Given the description of an element on the screen output the (x, y) to click on. 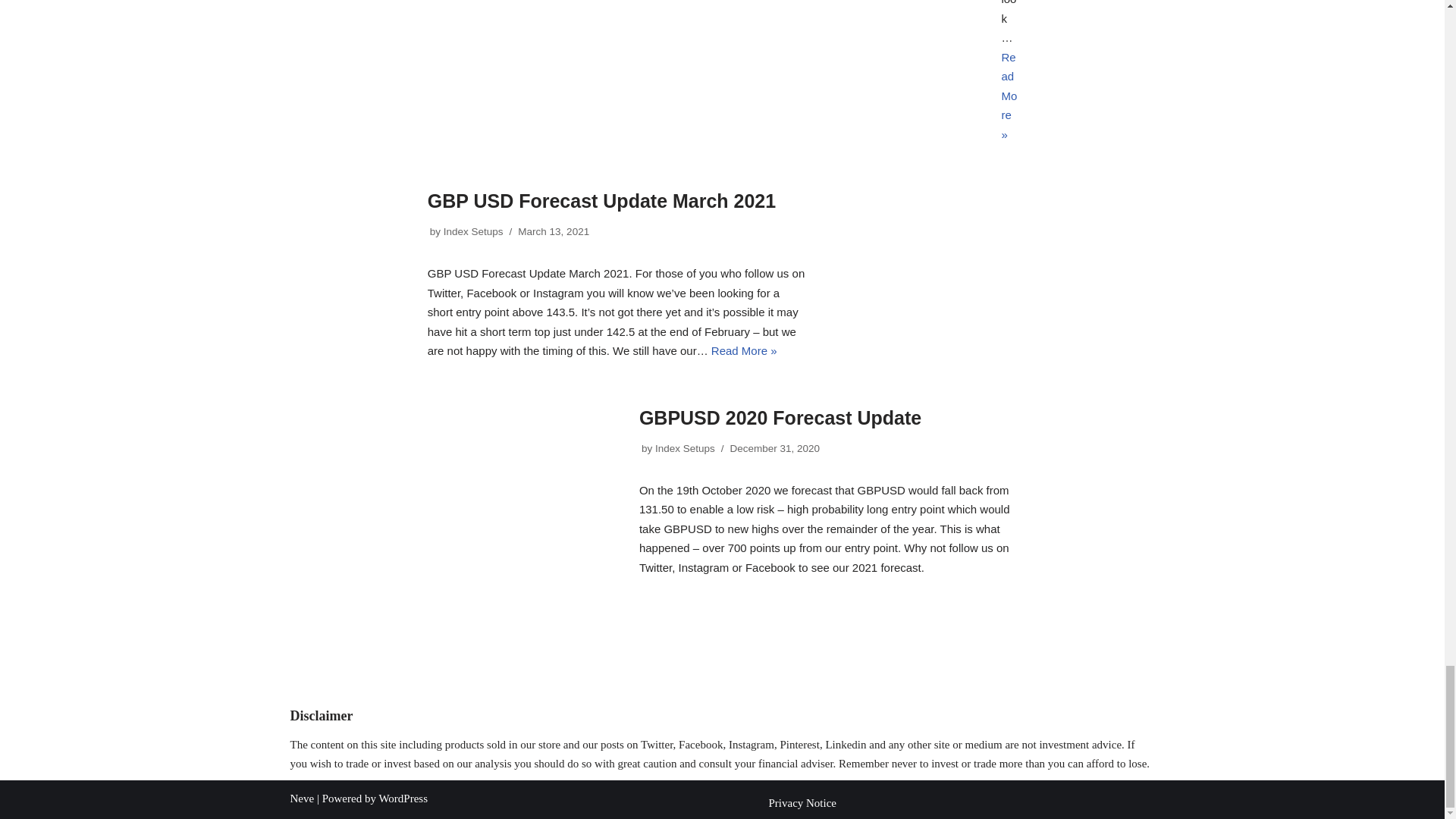
Posts by Index Setups (473, 231)
Index Setups (684, 448)
WordPress (403, 798)
GBPUSD 2020 Forecast Update (780, 417)
Posts by Index Setups (684, 448)
Neve (301, 798)
GBP USD Forecast Update March 2021 (863, 275)
Index Setups (473, 231)
Privacy Notice (801, 802)
GBP USD Forecast Update March 2021 (602, 200)
GBPUSD 2020 Forecast Update (454, 491)
